Given the description of an element on the screen output the (x, y) to click on. 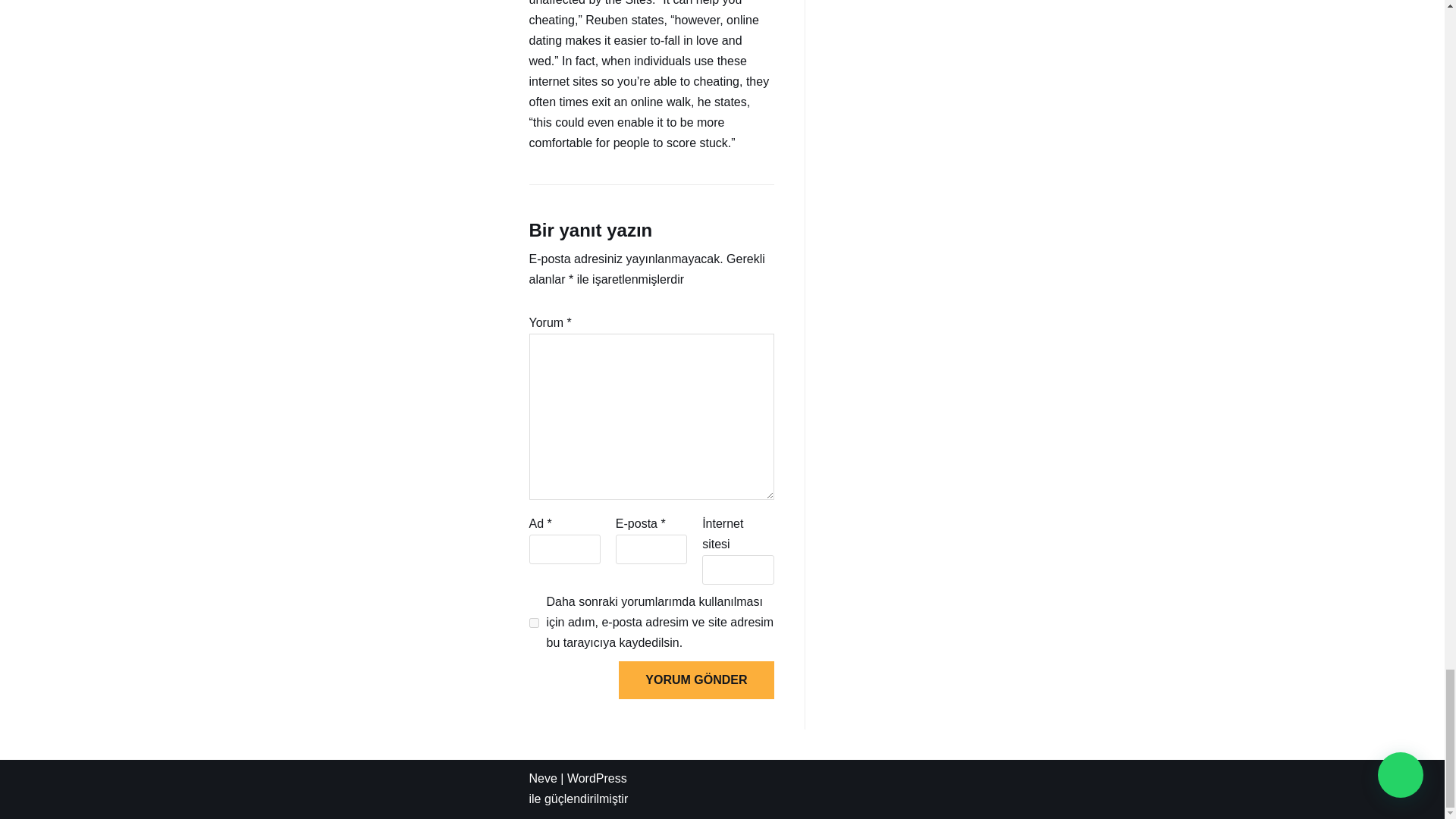
Neve (543, 778)
yes (533, 623)
WordPress (597, 778)
